Given the description of an element on the screen output the (x, y) to click on. 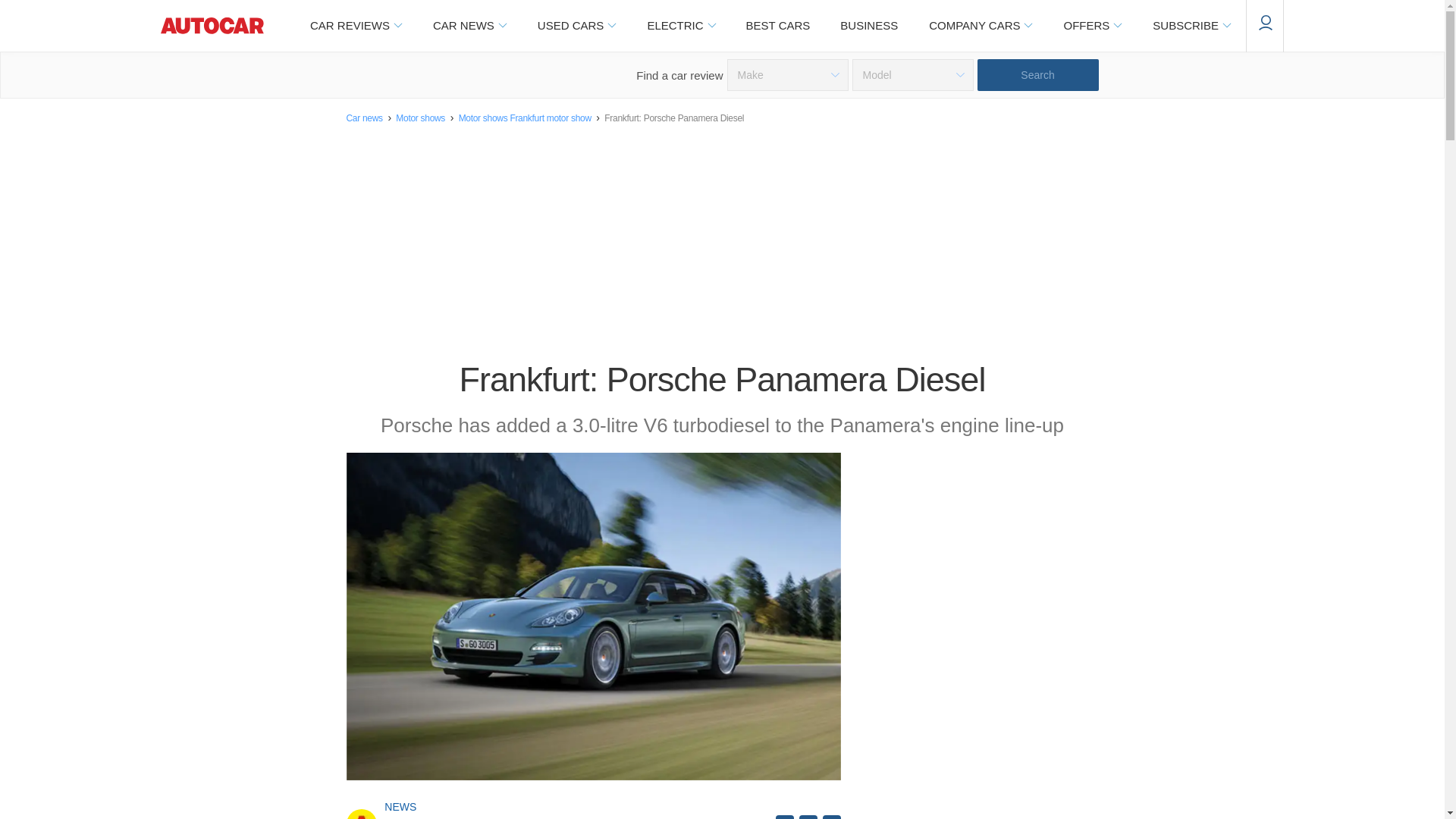
Search (1036, 74)
Home (211, 25)
Autocar Business news, insight and opinion (868, 26)
CAR REVIEWS (355, 26)
COMPANY CARS (979, 26)
Search (1036, 74)
CAR NEWS (468, 26)
Top 10 cars by segment (777, 26)
ELECTRIC (680, 26)
OFFERS (1091, 26)
Autocar Electric (680, 26)
BUSINESS (868, 26)
USED CARS (576, 26)
SUBSCRIBE (1191, 26)
BEST CARS (777, 26)
